Given the description of an element on the screen output the (x, y) to click on. 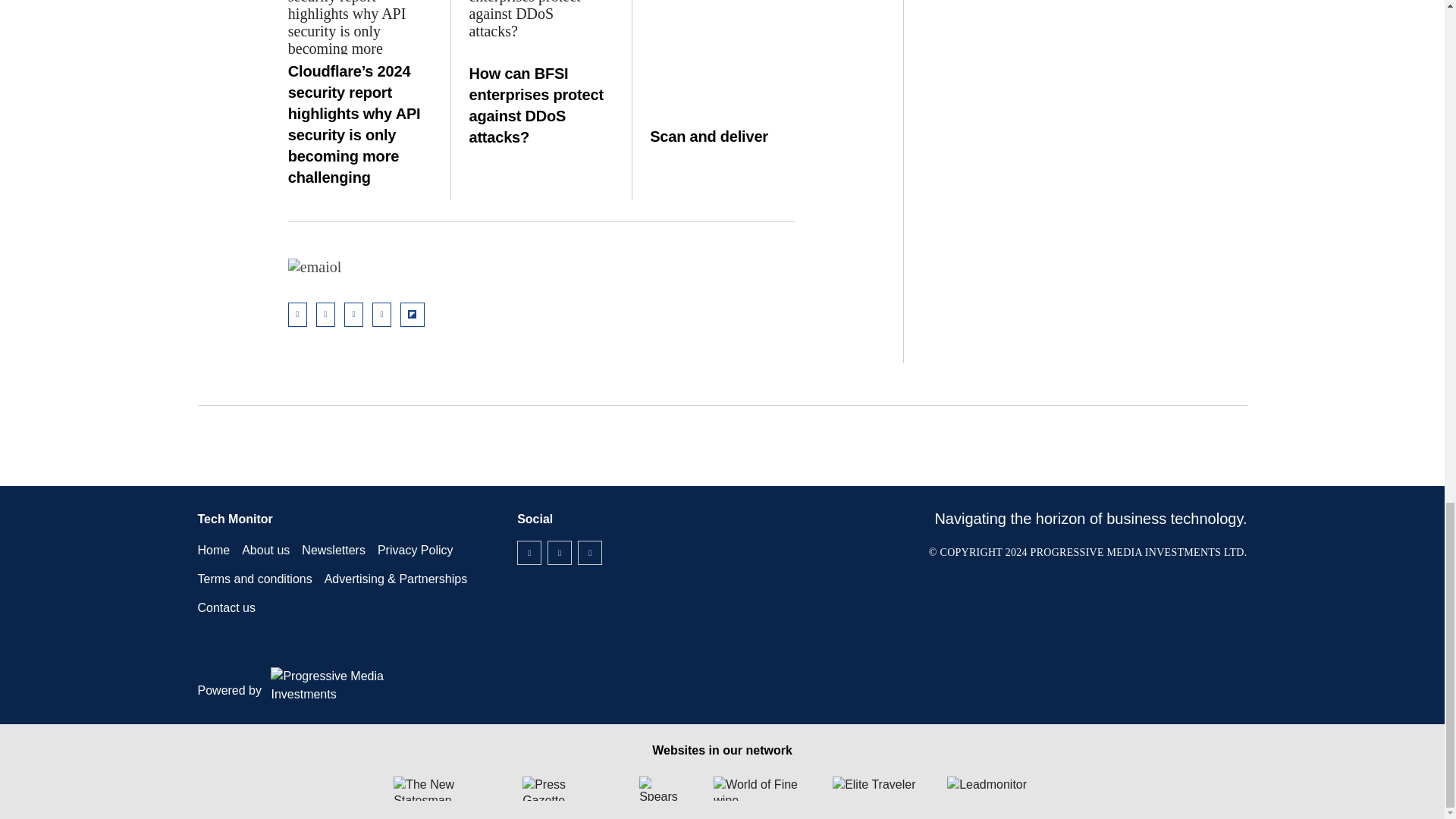
Share on Flipboard (412, 314)
Scan and deliver (721, 39)
